Given the description of an element on the screen output the (x, y) to click on. 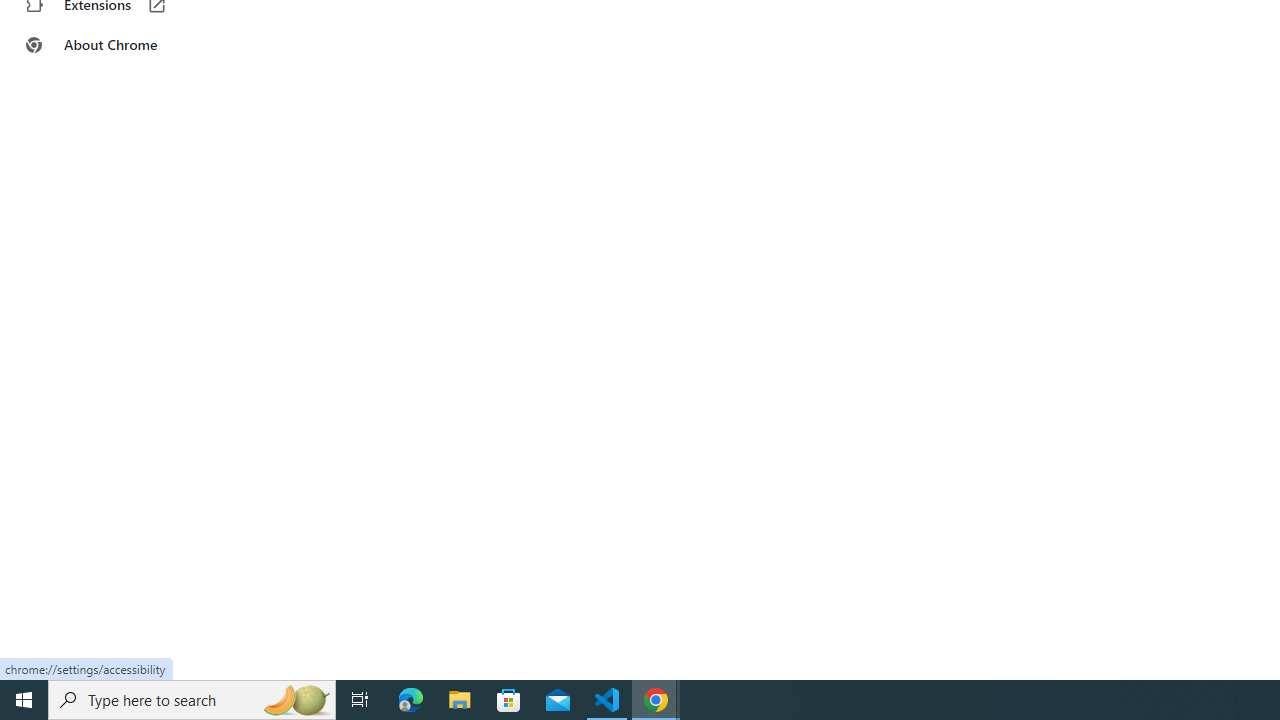
About Chrome (124, 44)
